Given the description of an element on the screen output the (x, y) to click on. 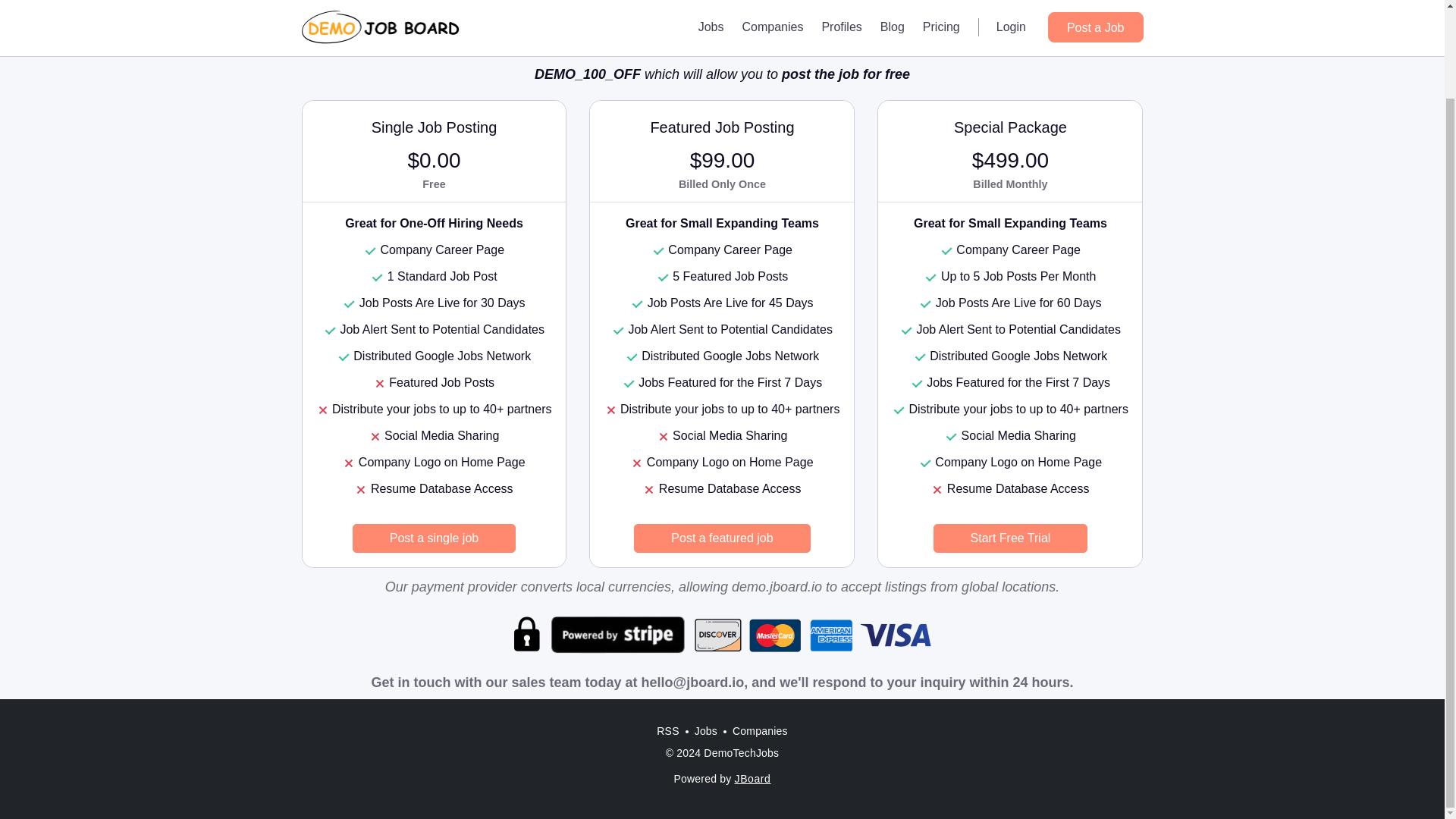
Post a single job (433, 538)
RSS (667, 731)
Jobs (706, 731)
Companies (759, 731)
Post a featured job (721, 538)
JBoard (753, 778)
Start Free Trial (1010, 538)
